Given the description of an element on the screen output the (x, y) to click on. 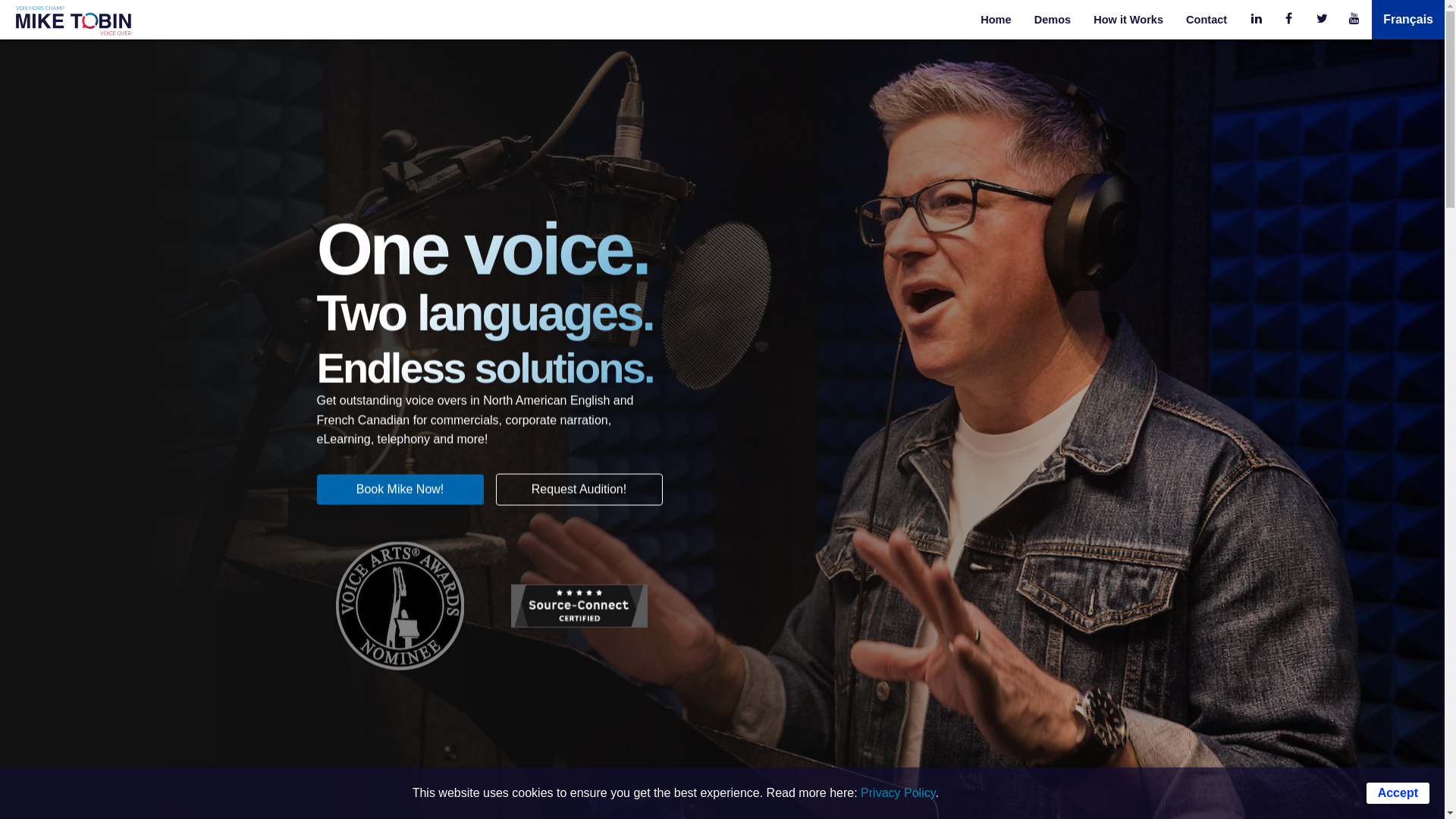
Home Element type: text (995, 19)
Demos Element type: text (1052, 19)
Accept Element type: text (1397, 792)
How it Works Element type: text (1128, 19)
Book Mike Now! Element type: text (399, 488)
Request Audition! Element type: text (578, 489)
Contact Element type: text (1206, 19)
Privacy Policy Element type: text (897, 792)
